Given the description of an element on the screen output the (x, y) to click on. 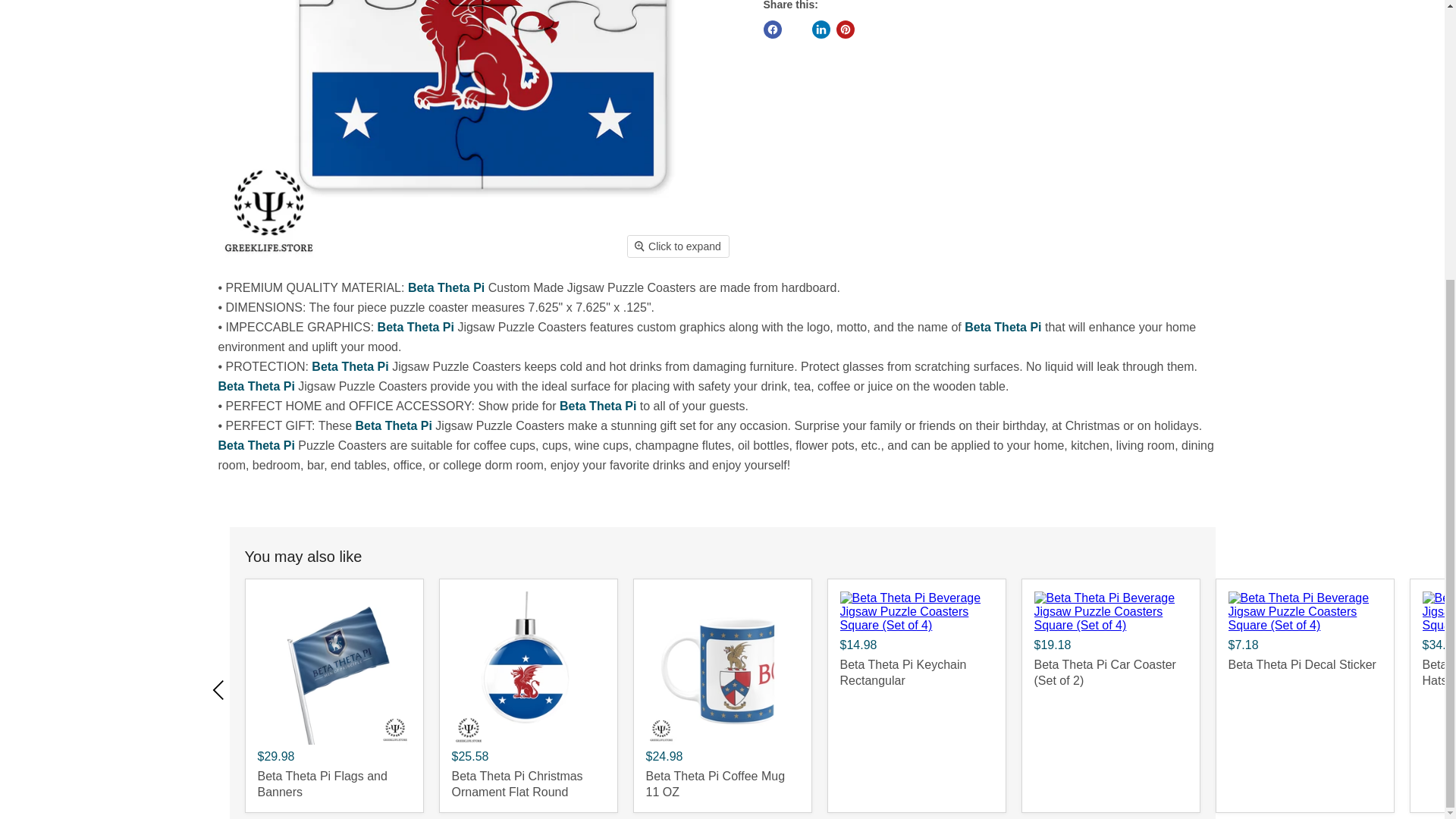
Beta Theta Pi Fraternity Product Collection (393, 425)
Beta Theta Pi Fraternity Product Collection (349, 366)
Beta Theta Pi Fraternity Product Collection (256, 386)
Beta Theta Pi Fraternity Product Collection (445, 287)
Beta Theta Pi Fraternity Product Collection (1002, 327)
Beta Theta Pi Fraternity Product Collection (415, 327)
Beta Theta Pi Fraternity Product Collection (597, 405)
Beta Theta Pi Fraternity Product Collection (256, 445)
